Given the description of an element on the screen output the (x, y) to click on. 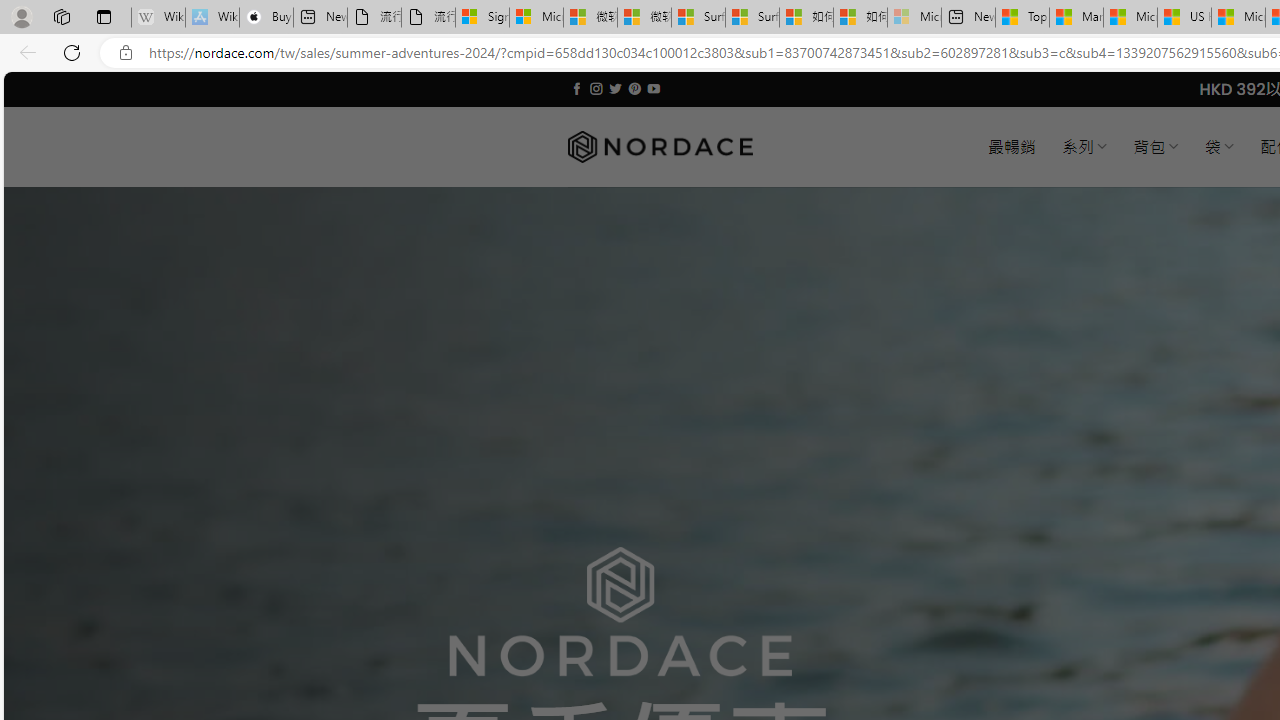
Buy iPad - Apple (266, 17)
